Given the description of an element on the screen output the (x, y) to click on. 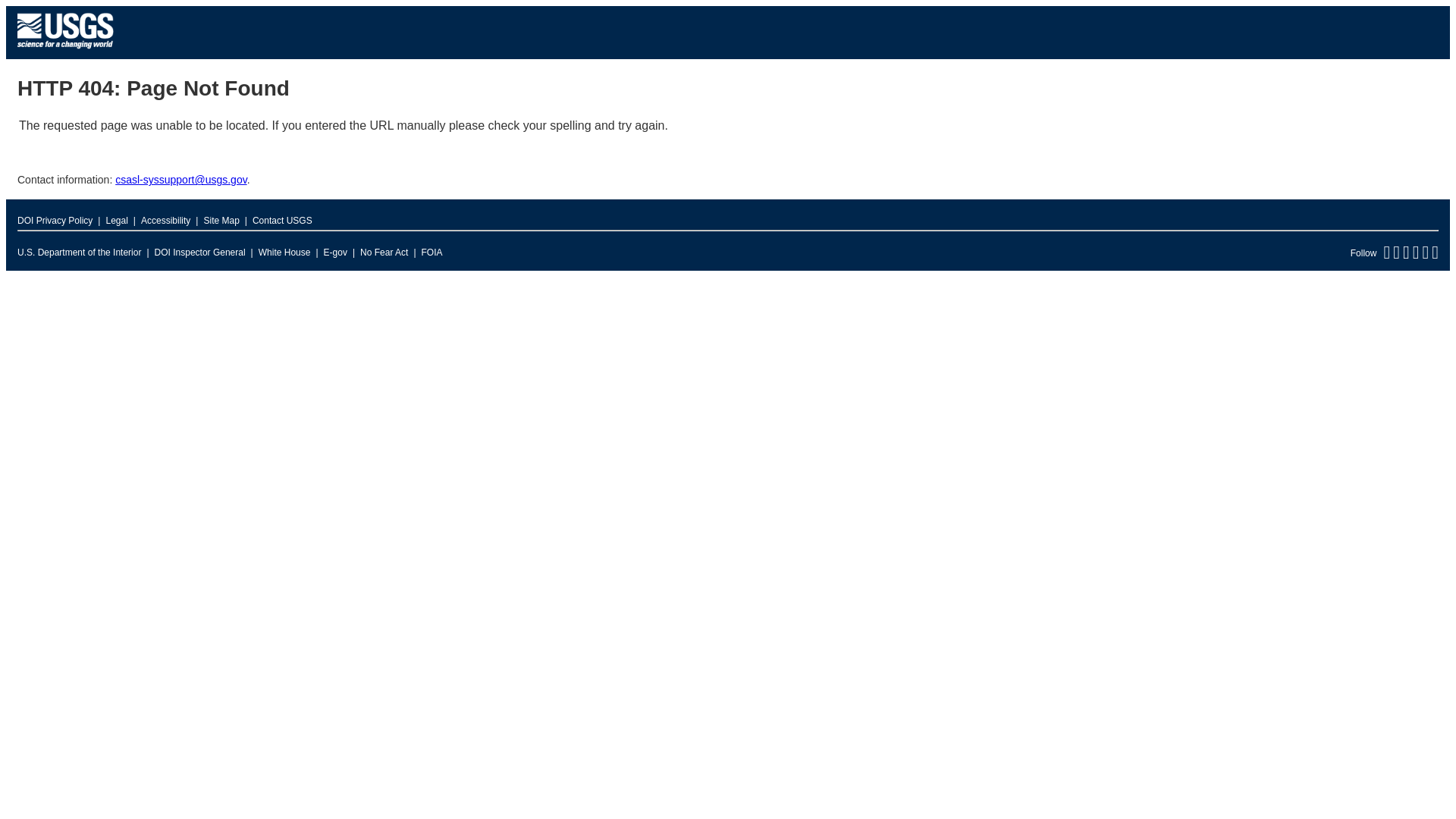
YouTube (1425, 255)
DOI Privacy Policy (55, 220)
Site Map (220, 220)
DOI Inspector General (200, 252)
U.S. Department of the Interior (79, 252)
Accessibility (165, 220)
No Fear Act (383, 252)
FOIA (432, 252)
Instagram (1434, 255)
White House (285, 252)
Flickr (1415, 255)
Home (65, 51)
E-gov (335, 252)
Facebook (1396, 255)
Twitter (1386, 255)
